Given the description of an element on the screen output the (x, y) to click on. 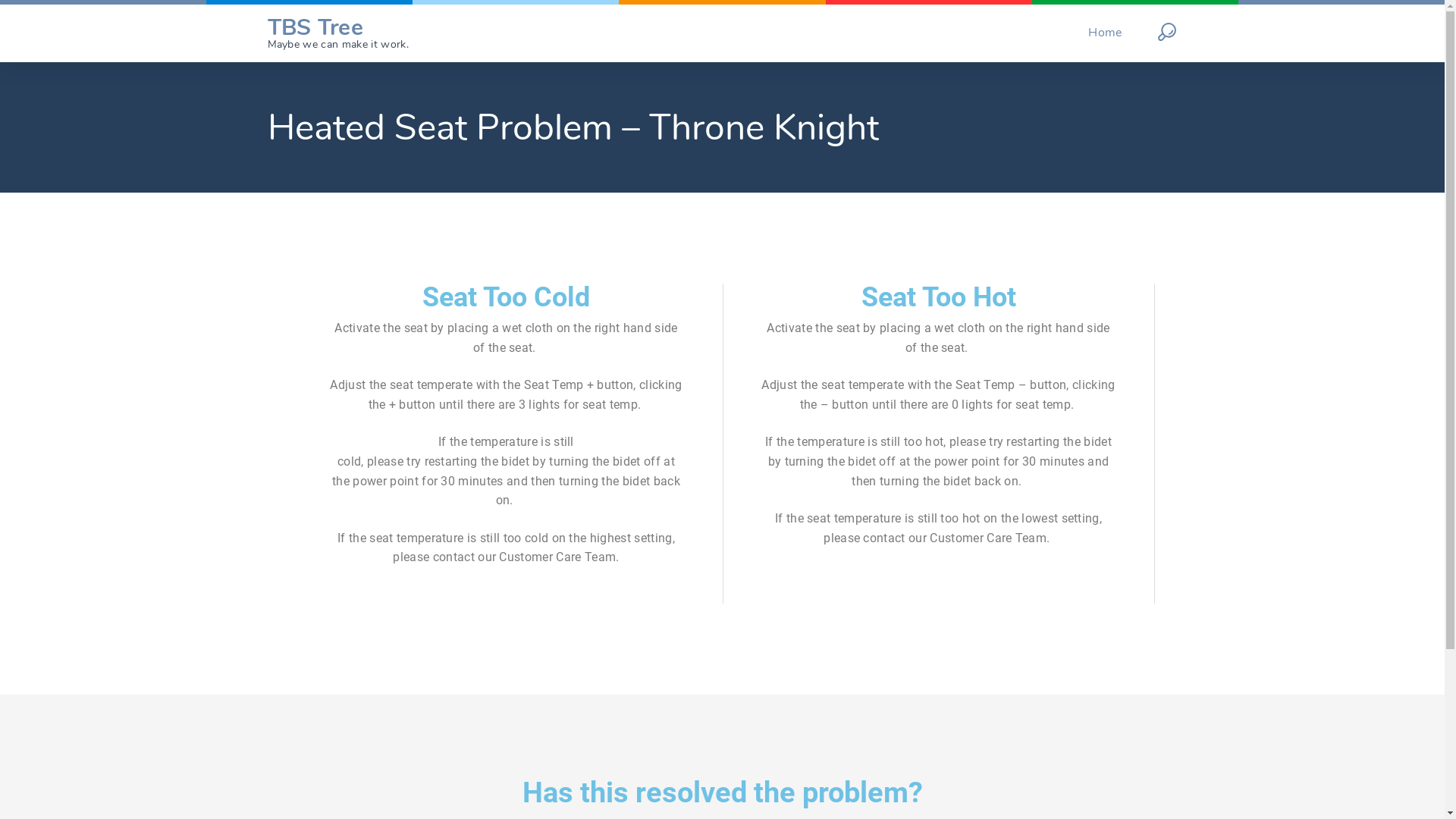
Home Element type: text (1104, 33)
TBS Tree
Maybe we can make it work. Element type: text (336, 33)
